Given the description of an element on the screen output the (x, y) to click on. 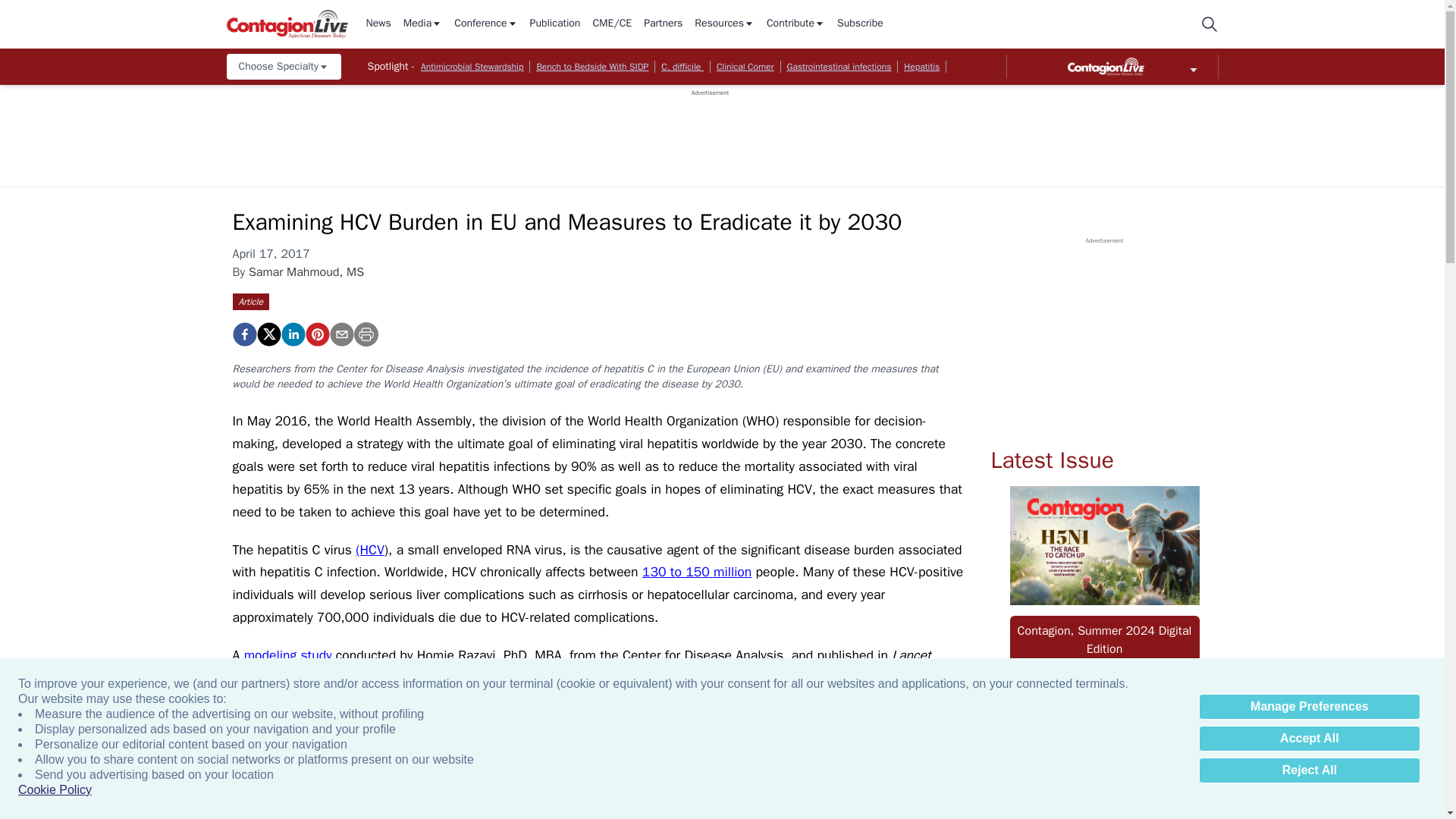
Media (422, 23)
Reject All (1309, 769)
3rd party ad content (709, 131)
Cookie Policy (54, 789)
Choose Specialty (282, 66)
Manage Preferences (1309, 706)
Resources (724, 23)
News (377, 23)
Contribute (796, 23)
Subscribe (860, 23)
Accept All (1309, 738)
Conference (485, 23)
